Given the description of an element on the screen output the (x, y) to click on. 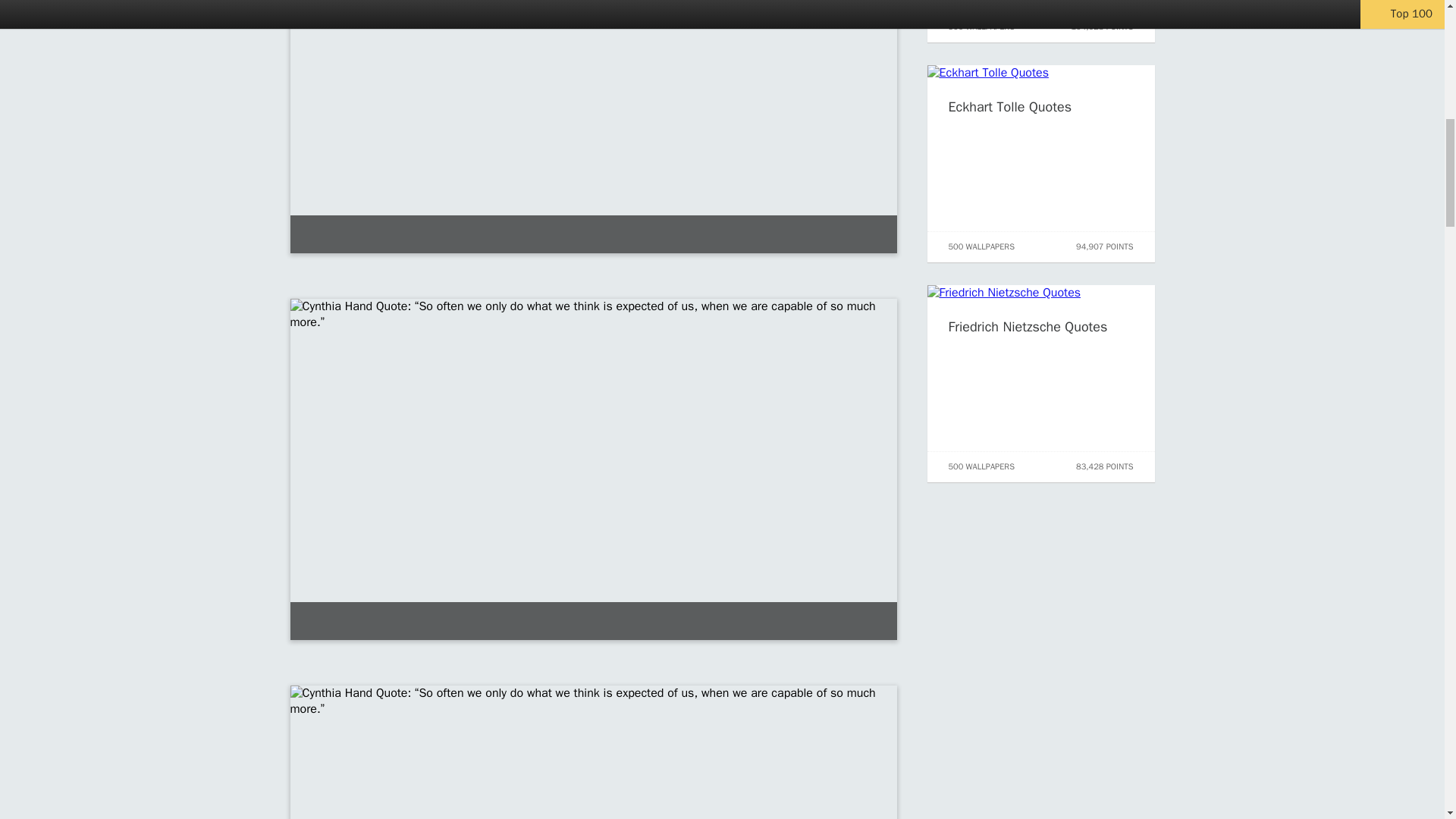
Eckhart Tolle Quotes (1009, 106)
Friedrich Nietzsche Quotes (1026, 326)
